Given the description of an element on the screen output the (x, y) to click on. 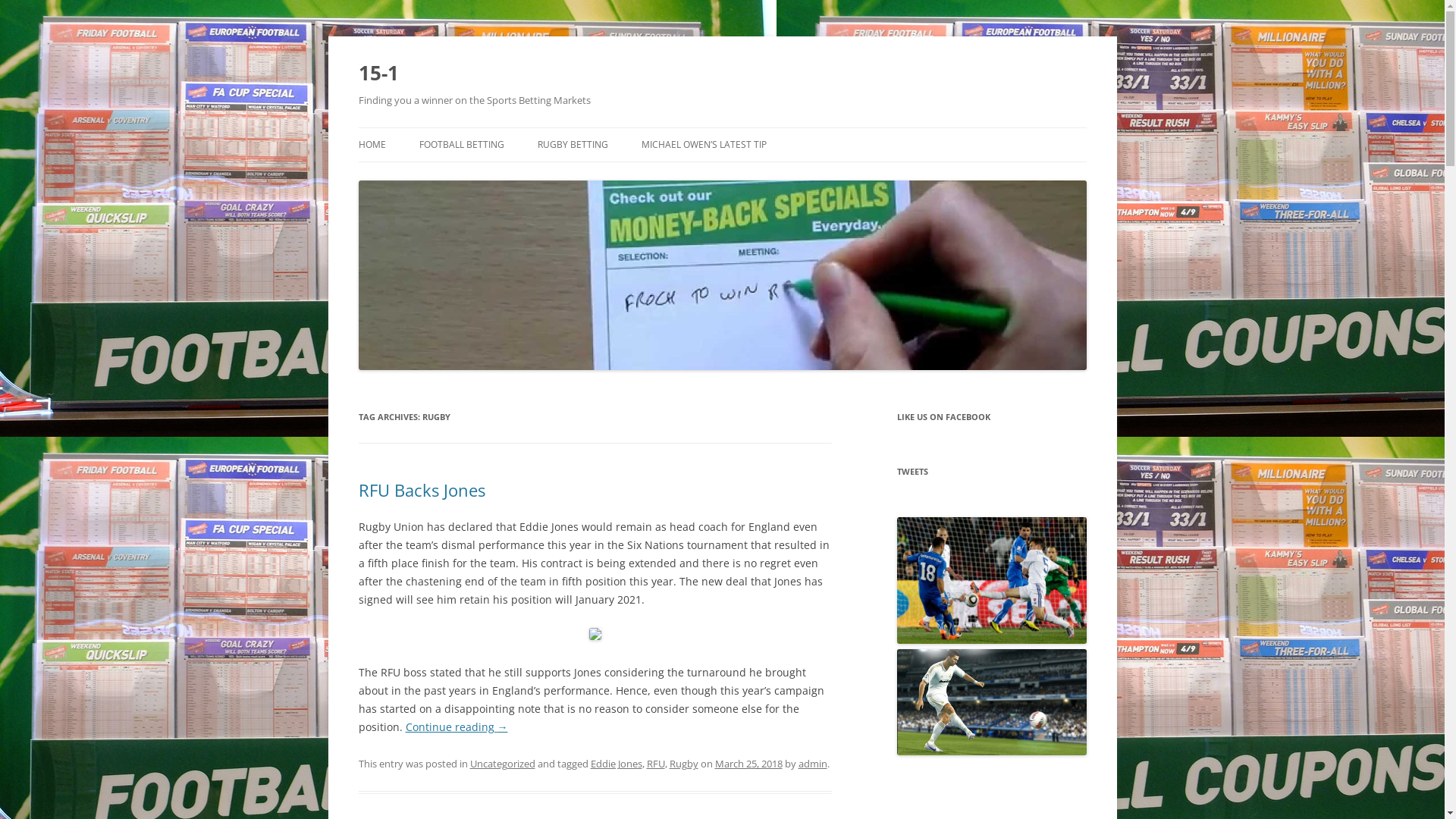
RFU Element type: text (655, 763)
15-1 Element type: text (377, 72)
Eddie Jones Element type: text (615, 763)
admin Element type: text (811, 763)
Rugby Element type: text (682, 763)
FOOTBALL BETTING Element type: text (460, 144)
RFU Backs Jones Element type: text (420, 489)
Uncategorized Element type: text (502, 763)
Skip to content Element type: text (721, 127)
March 25, 2018 Element type: text (747, 763)
RUGBY BETTING Element type: text (571, 144)
HOME Element type: text (371, 144)
